Given the description of an element on the screen output the (x, y) to click on. 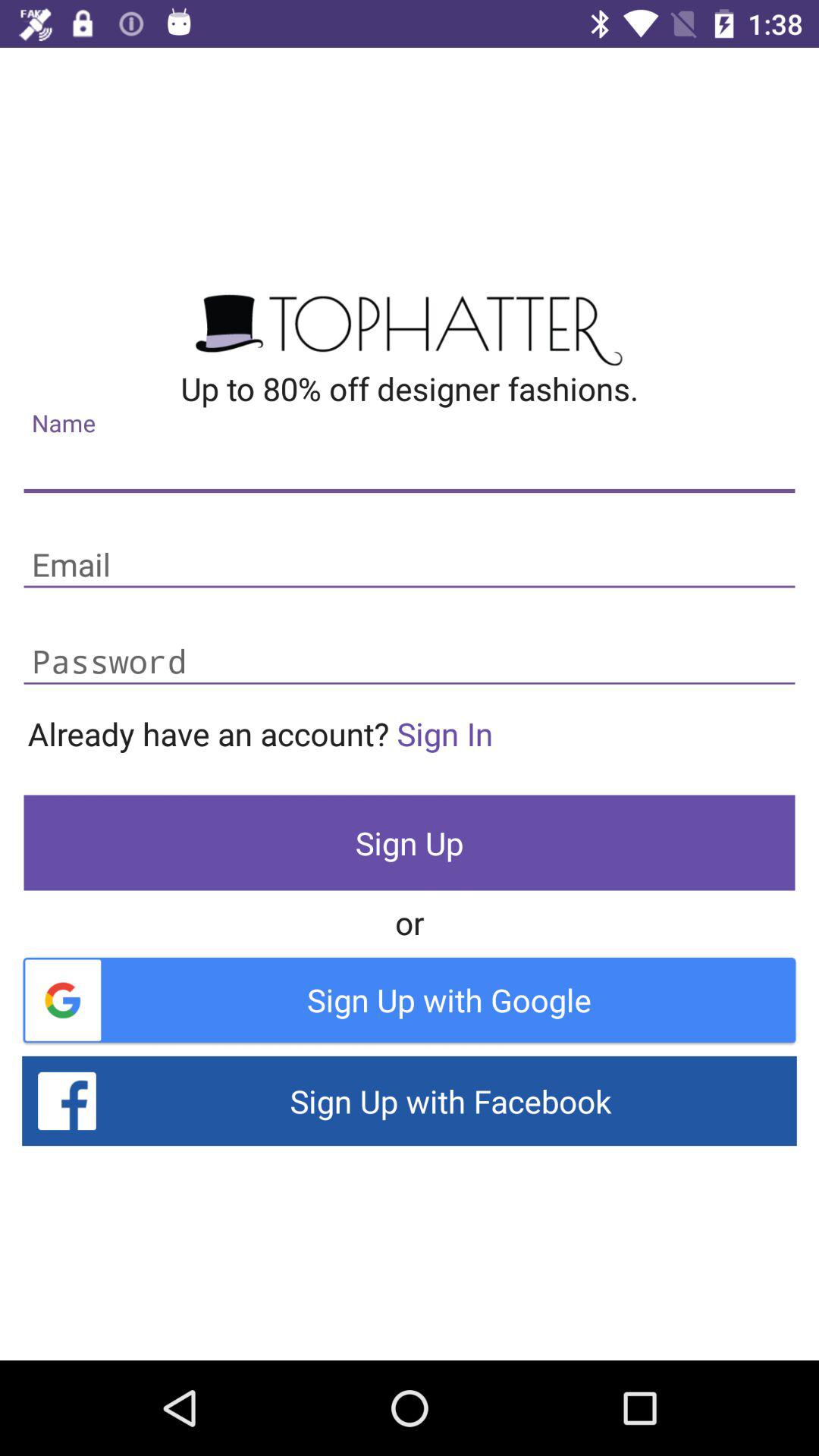
password (409, 662)
